Given the description of an element on the screen output the (x, y) to click on. 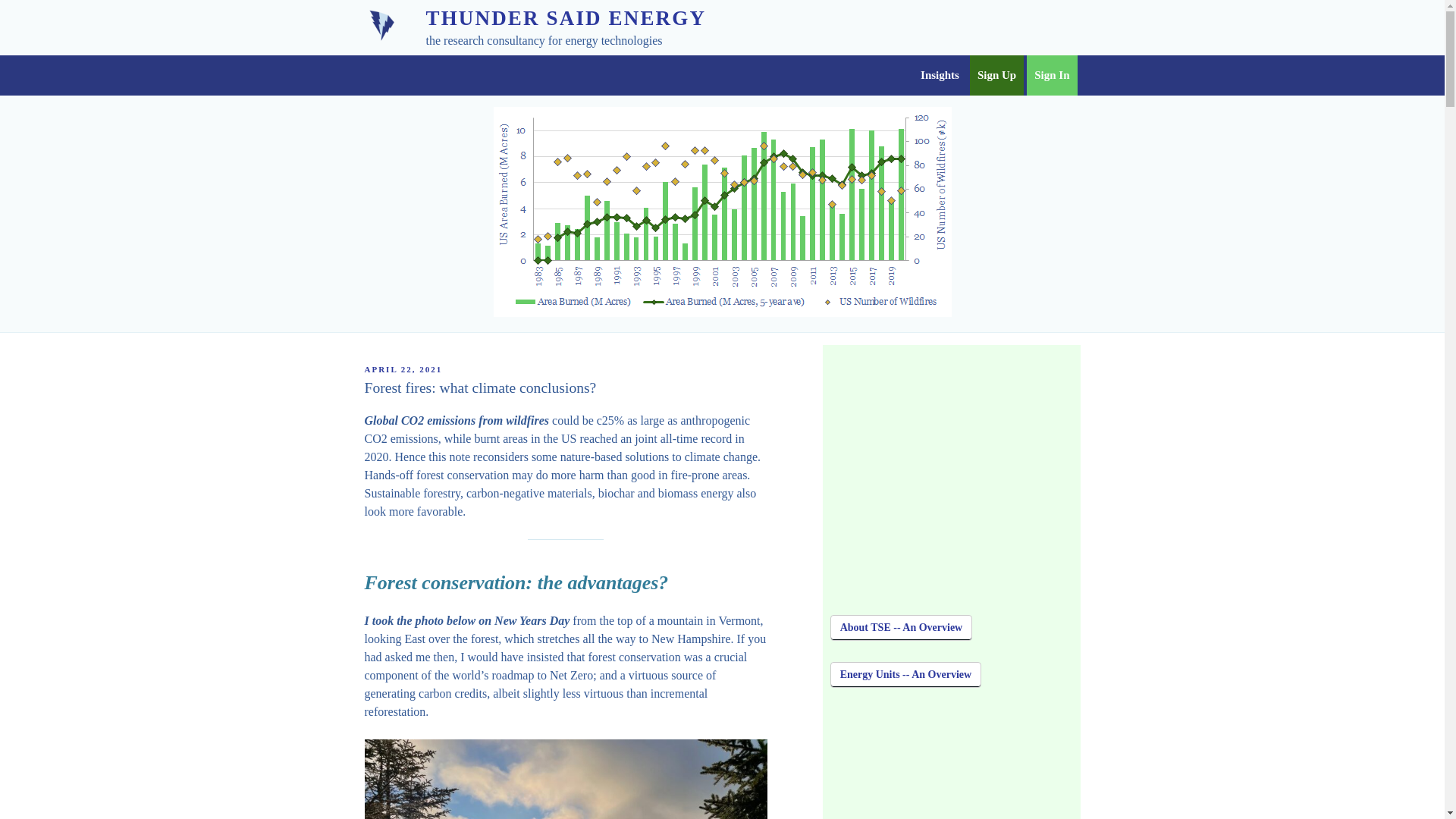
Sign In (1051, 75)
APRIL 22, 2021 (403, 368)
Energy Transition: Top Five Reflections after 3.5 Years (951, 764)
Energy Units -- An Overview (905, 674)
Insights (939, 75)
Sign Up (996, 75)
About TSE -- An Overview (900, 627)
THUNDER SAID ENERGY (566, 17)
